Given the description of an element on the screen output the (x, y) to click on. 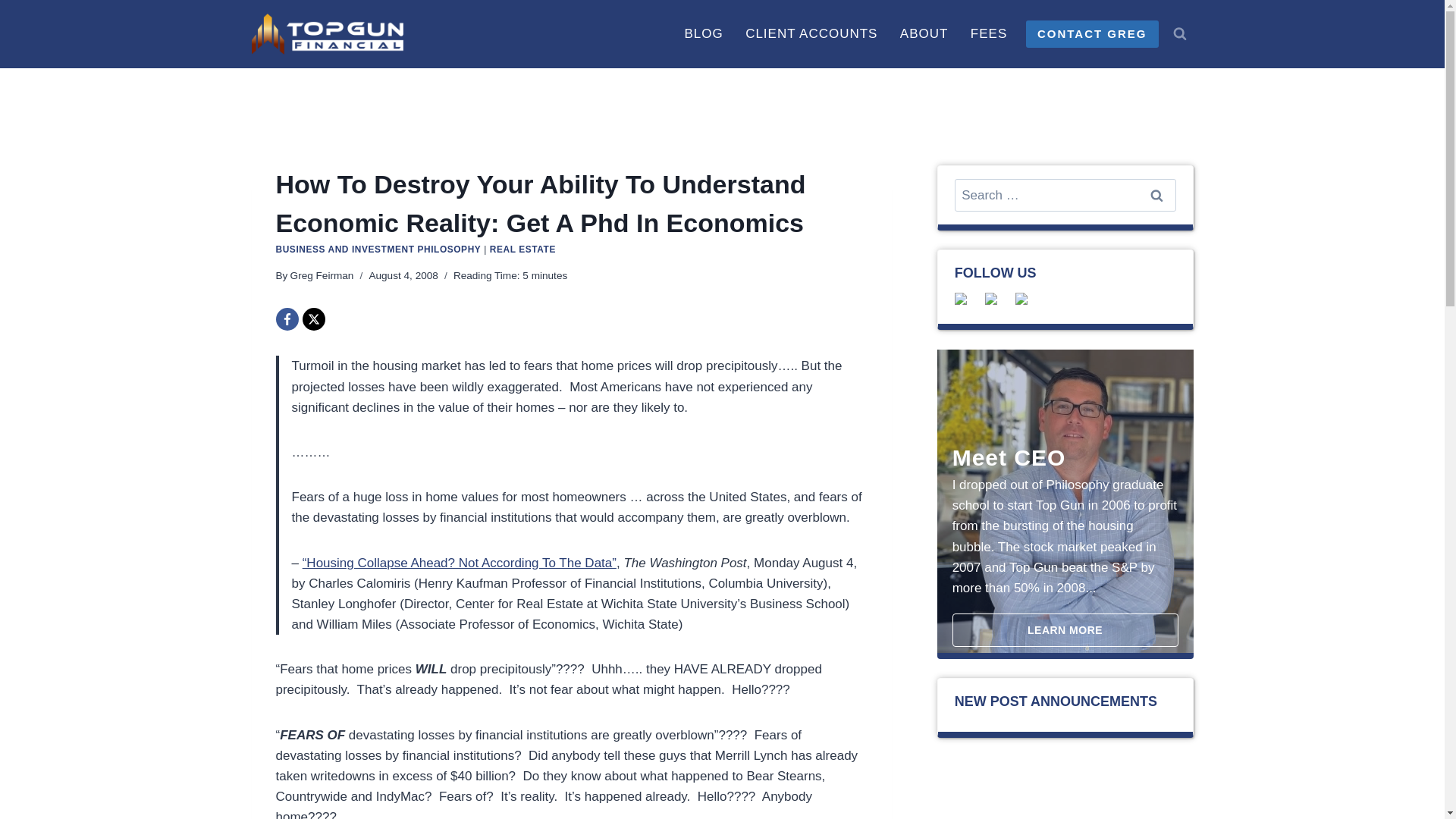
FEES (988, 33)
ABOUT (923, 33)
BUSINESS AND INVESTMENT PHILOSOPHY (378, 249)
Search (1155, 195)
CLIENT ACCOUNTS (810, 33)
LEARN MORE (1064, 630)
CONTACT GREG (1092, 33)
Greg Feirman (321, 275)
BLOG (703, 33)
Search (1155, 195)
